Given the description of an element on the screen output the (x, y) to click on. 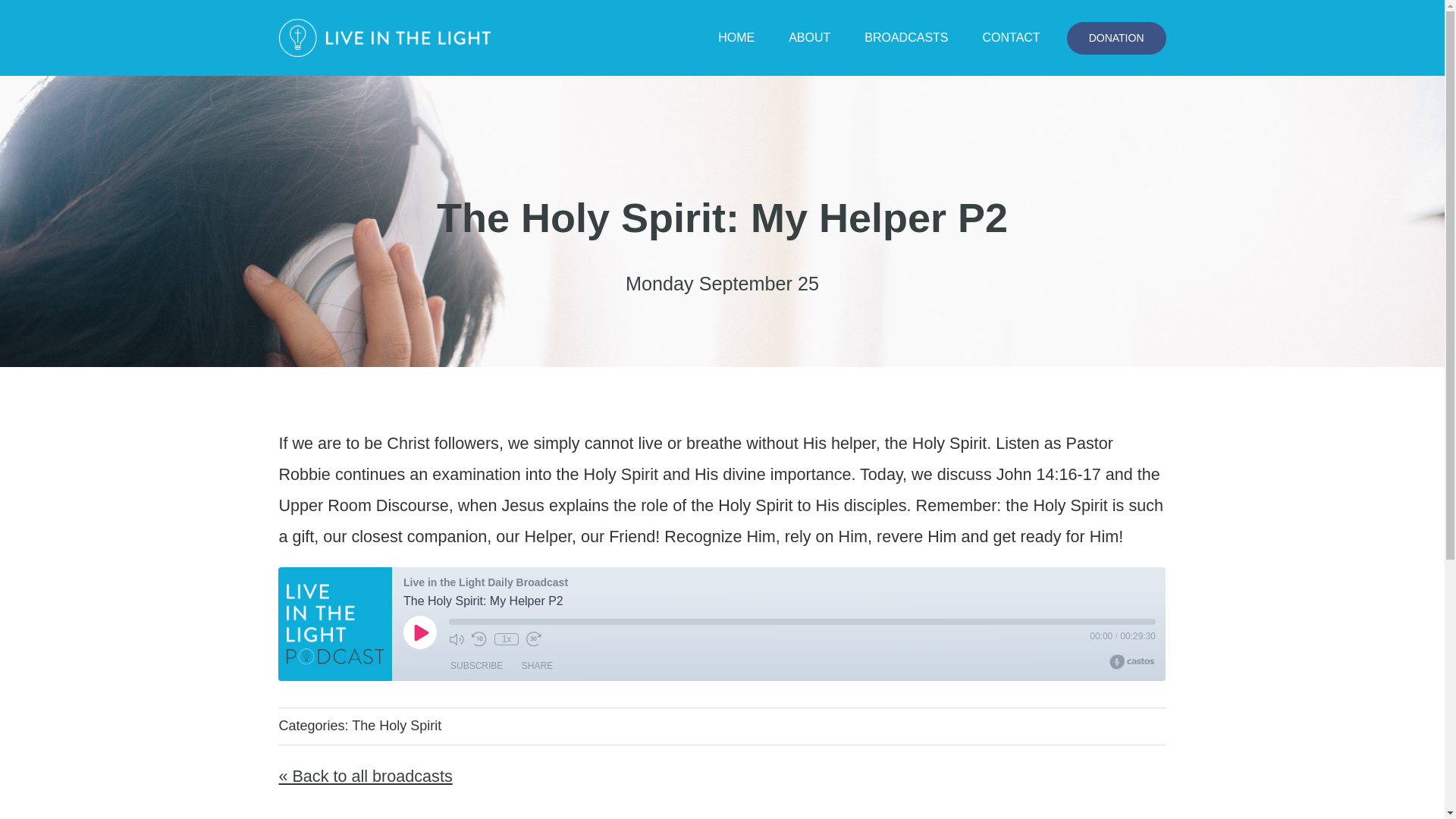
DONATION (1116, 37)
The Holy Spirit (396, 725)
CONTACT (1011, 37)
John 14:16-17 (1047, 474)
BROADCASTS (905, 37)
